Given the description of an element on the screen output the (x, y) to click on. 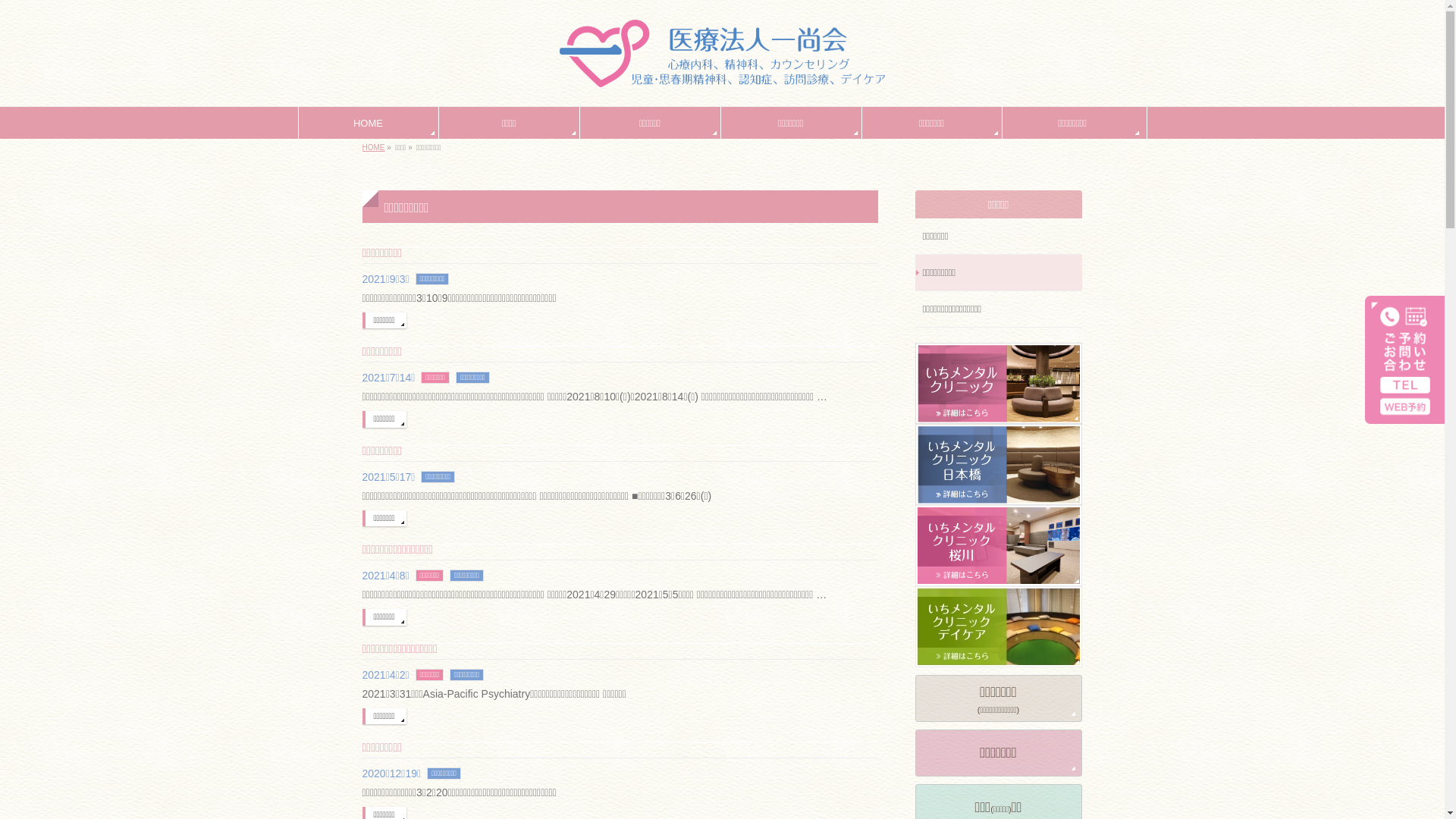
HOME Element type: text (367, 122)
HOME Element type: text (373, 147)
